Given the description of an element on the screen output the (x, y) to click on. 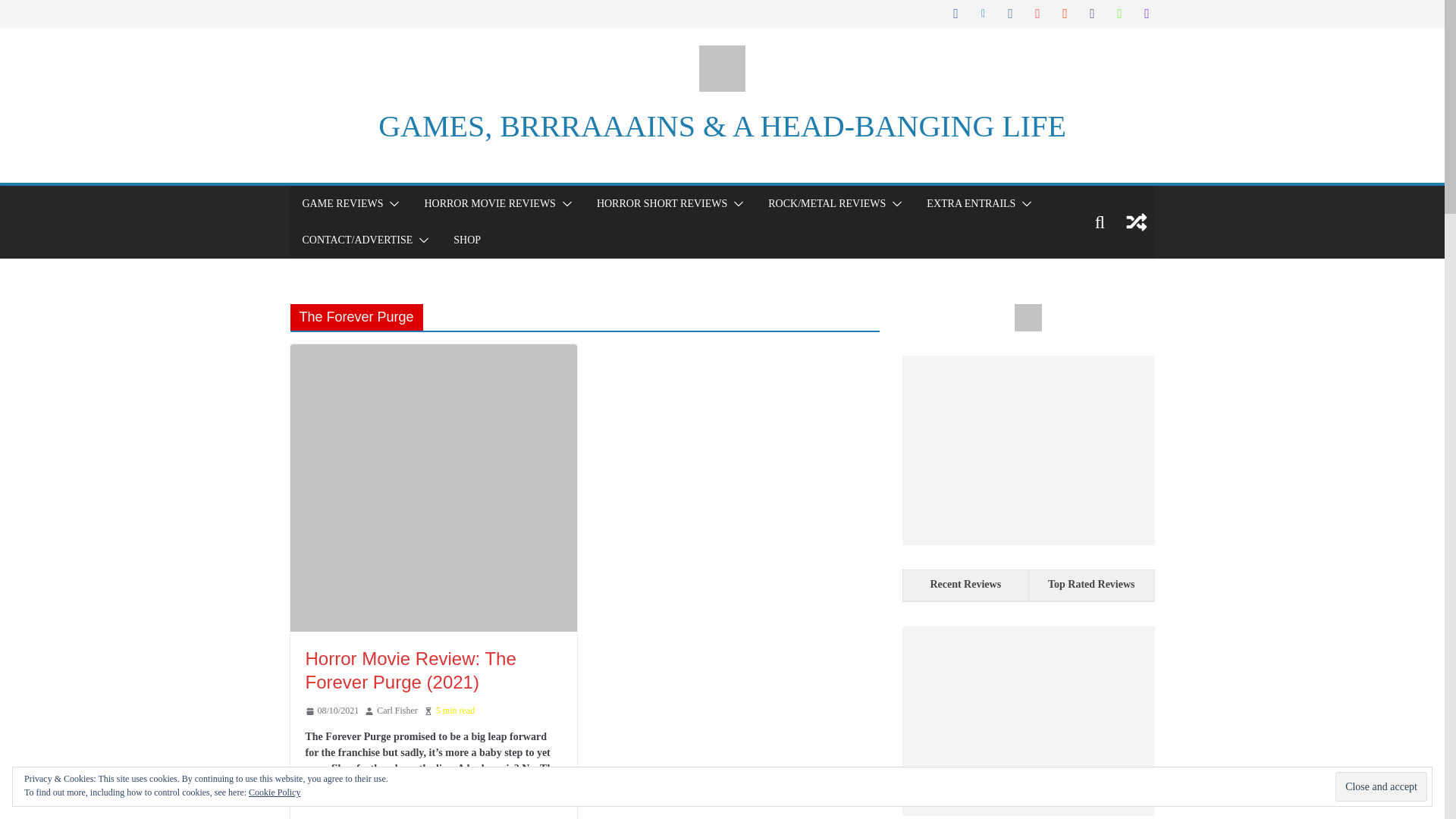
HORROR MOVIE REVIEWS (488, 203)
9:00 PM (331, 710)
Advertisement (1027, 720)
Advertisement (1027, 450)
Carl Fisher (397, 710)
View a random post (1136, 221)
GAME REVIEWS (341, 203)
Close and accept (1380, 786)
